Given the description of an element on the screen output the (x, y) to click on. 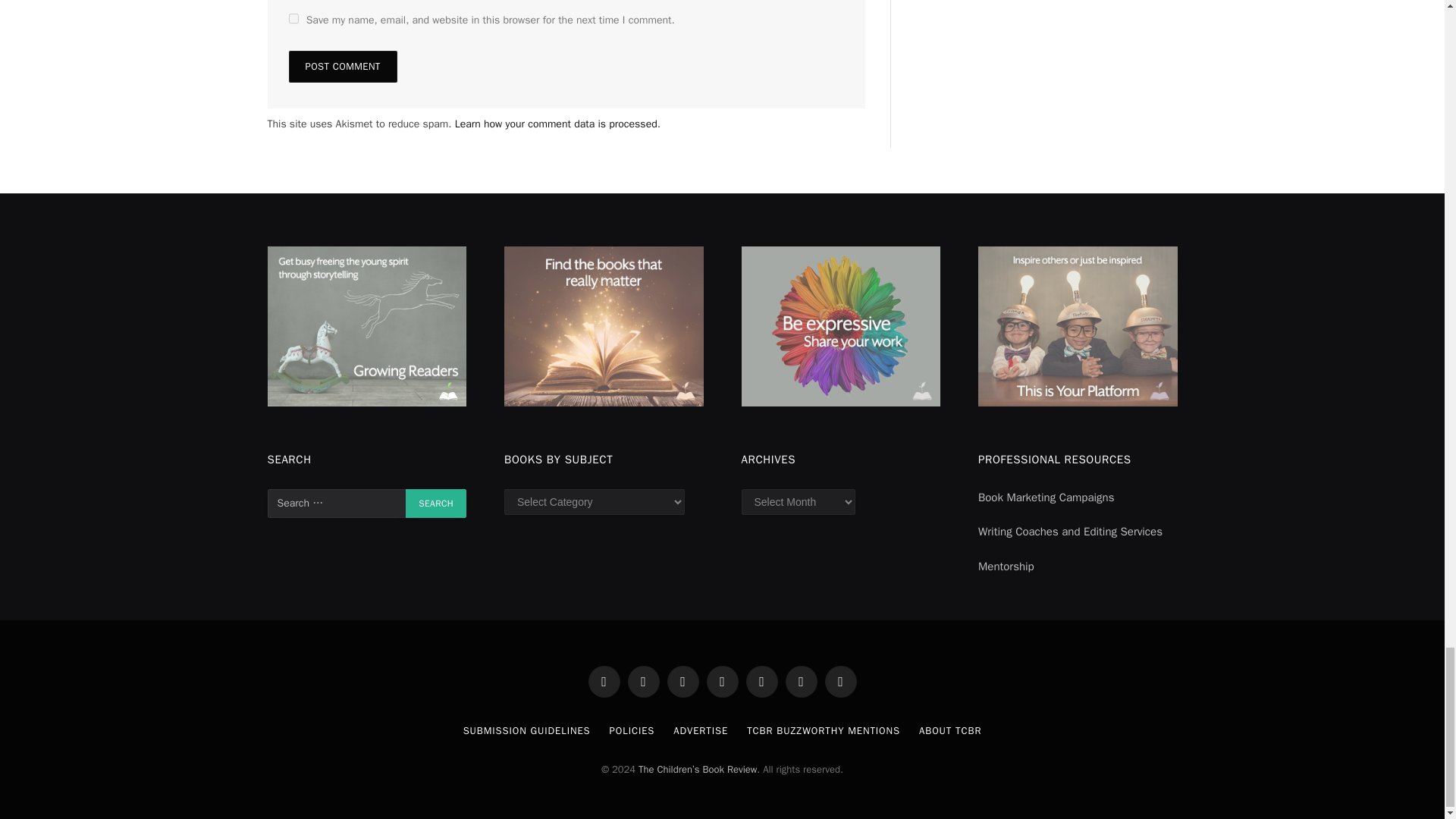
yes (293, 18)
Post Comment (342, 66)
Search (435, 502)
Search (435, 502)
